Given the description of an element on the screen output the (x, y) to click on. 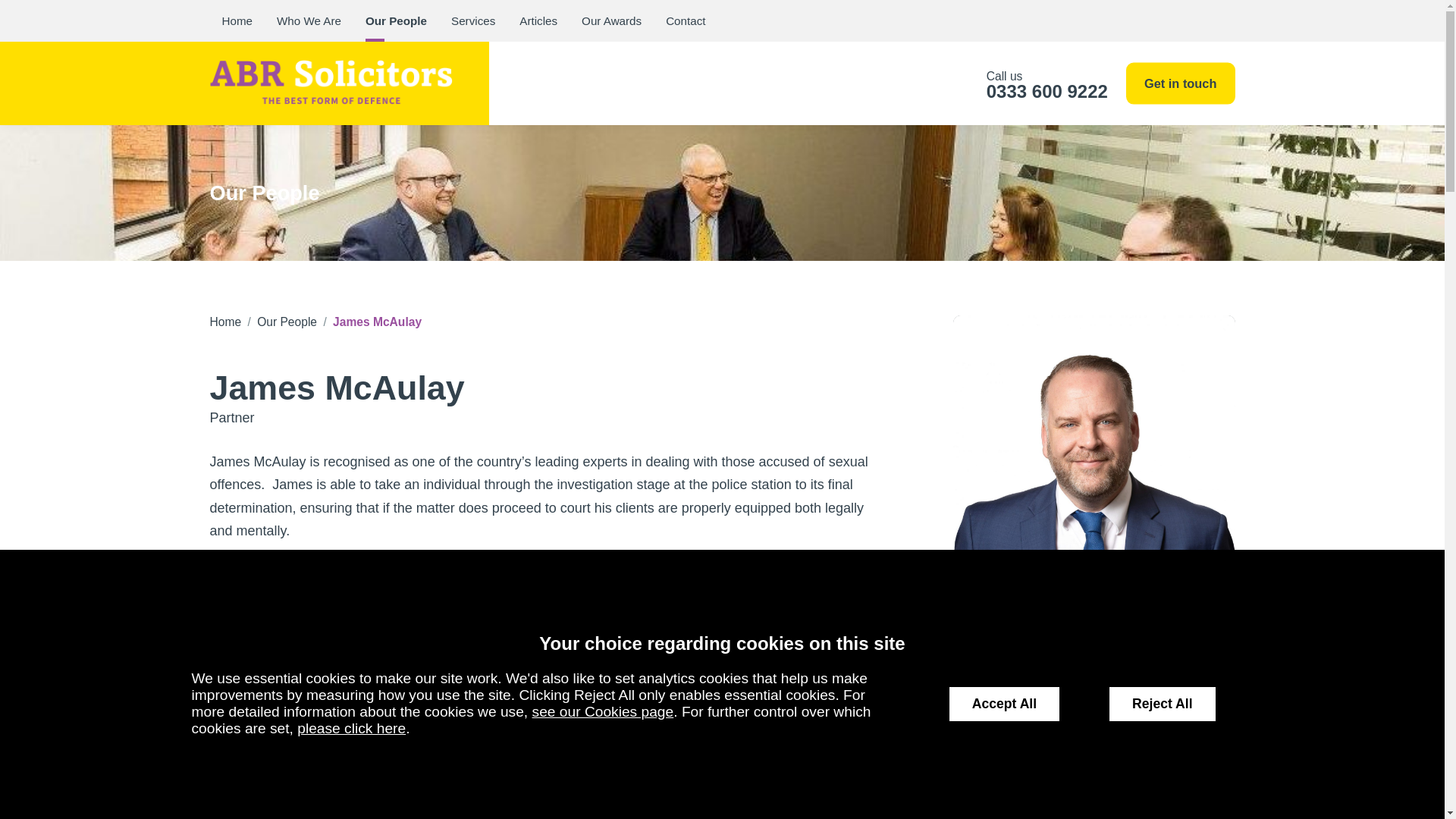
Services (472, 20)
Articles (537, 20)
Who We Are (308, 20)
Contact (685, 20)
Home (236, 20)
Our People (396, 20)
Our Awards (611, 20)
